Given the description of an element on the screen output the (x, y) to click on. 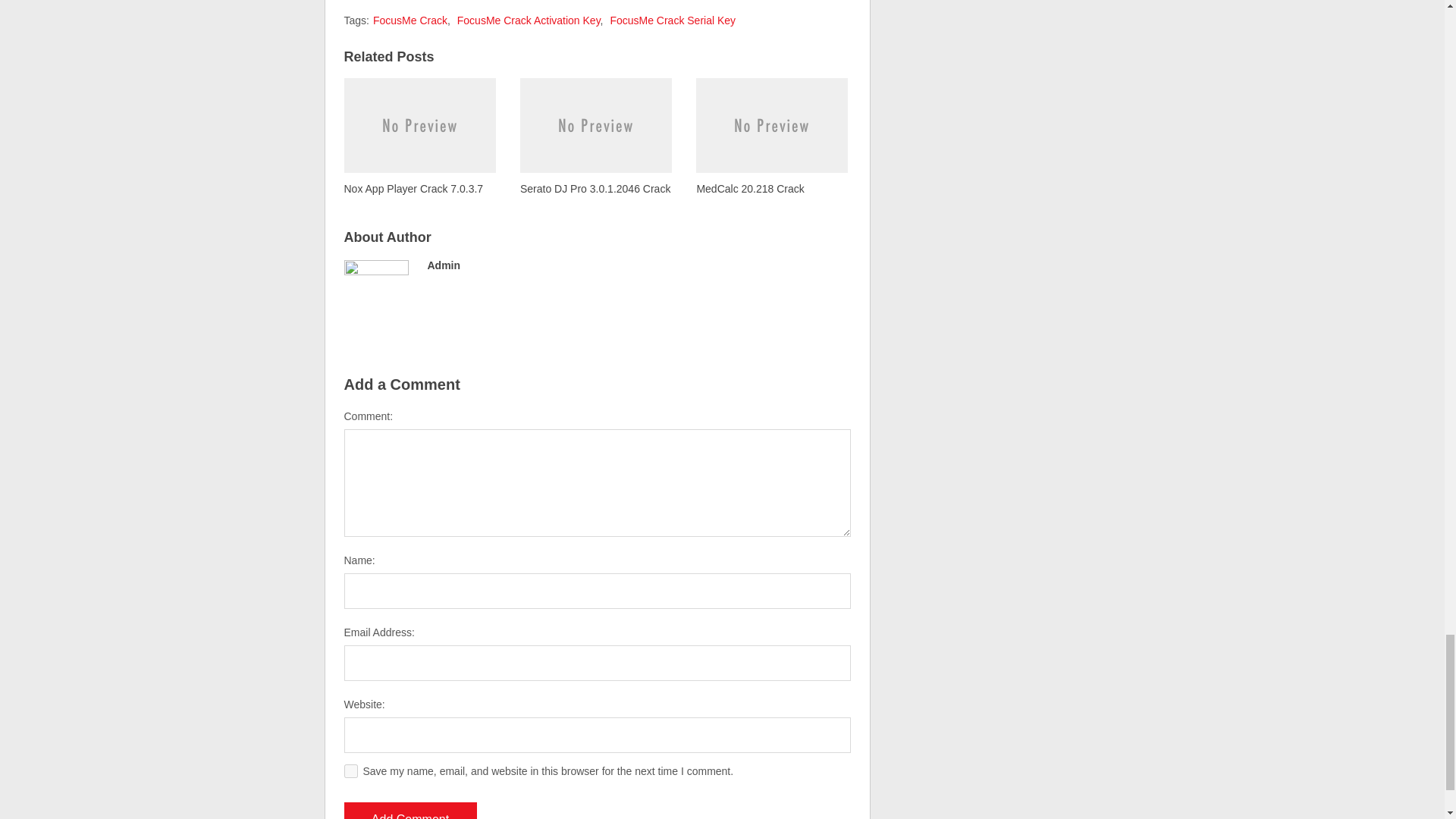
FocusMe Crack Serial Key (672, 20)
MedCalc 20.218 Crack (771, 136)
FocusMe Crack (409, 20)
Add Comment (410, 810)
MedCalc 20.218 Crack (771, 136)
Serato DJ Pro 3.0.1.2046 Crack (595, 136)
Add Comment (410, 810)
Nox App Player Crack 7.0.3.7 (419, 136)
FocusMe Crack Activation Key (528, 20)
yes (350, 771)
Nox App Player Crack 7.0.3.7 (419, 136)
Serato DJ Pro 3.0.1.2046 Crack (595, 136)
